Given the description of an element on the screen output the (x, y) to click on. 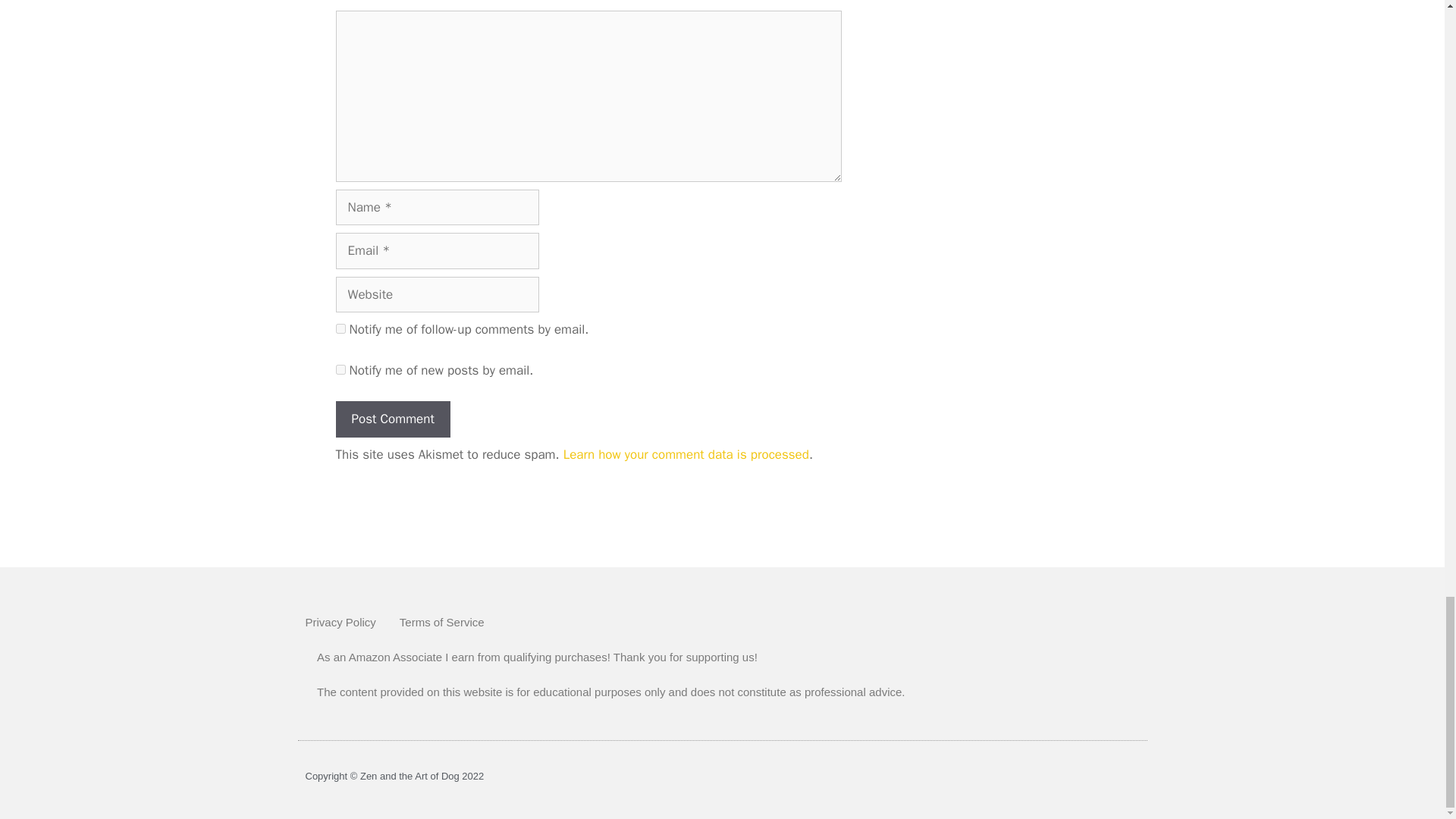
Learn how your comment data is processed (686, 454)
Post Comment (391, 419)
subscribe (339, 328)
subscribe (339, 369)
Post Comment (391, 419)
Terms of Service (441, 622)
Privacy Policy (339, 622)
